Given the description of an element on the screen output the (x, y) to click on. 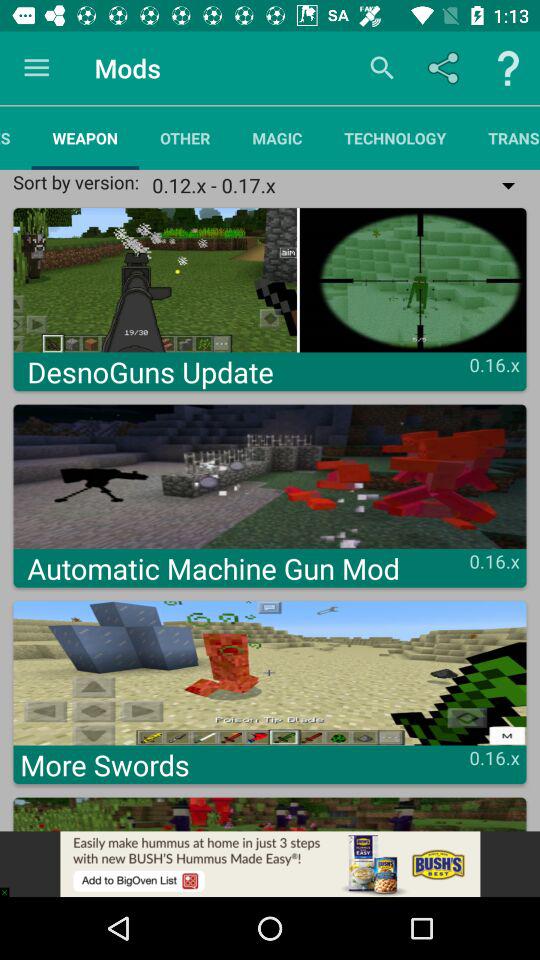
click the item below the mods item (185, 137)
